Given the description of an element on the screen output the (x, y) to click on. 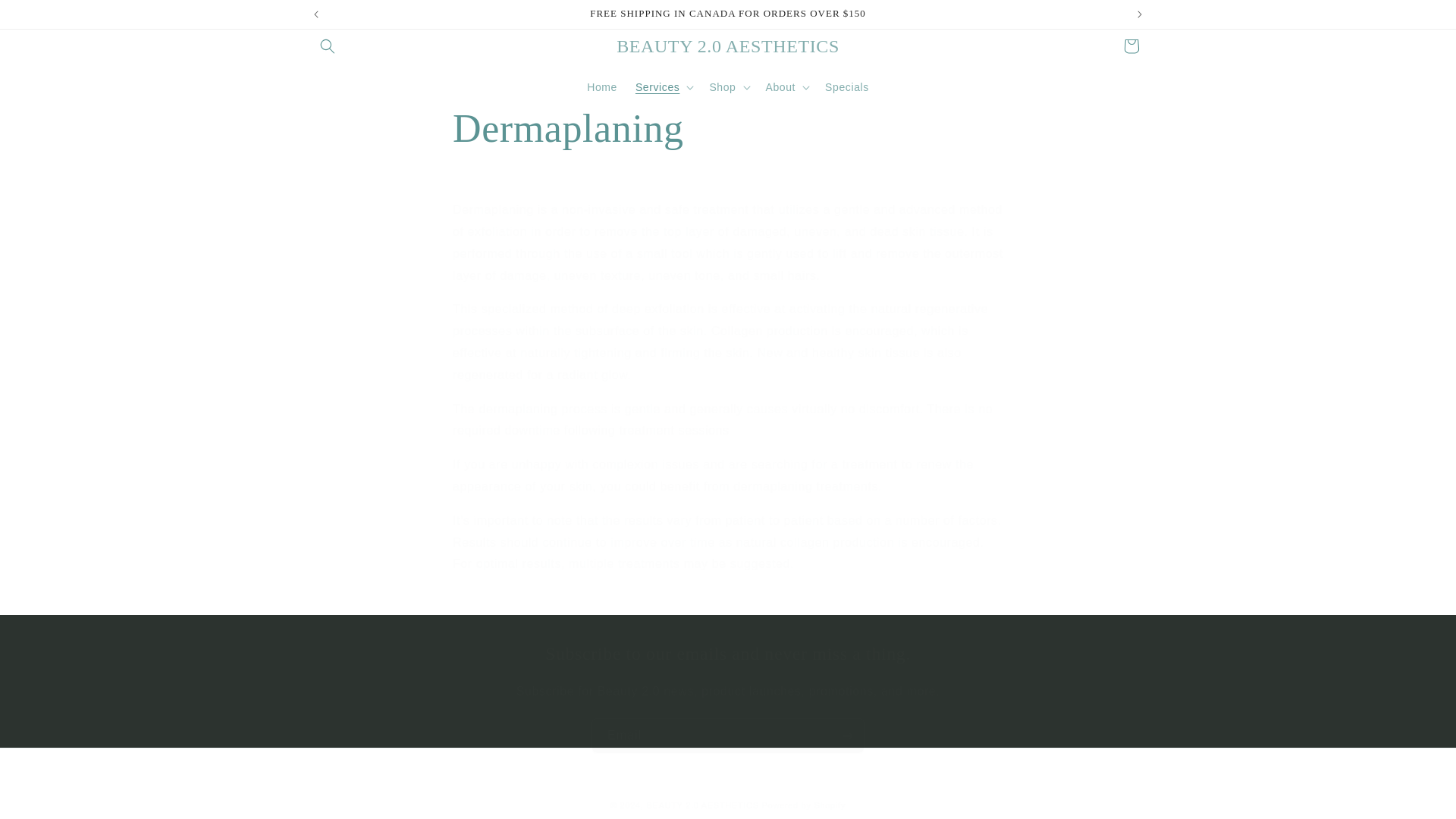
BEAUTY 2.0 AESTHETICS (728, 46)
Dermaplaning (727, 128)
Subscribe to our emails and never miss a thing. (727, 653)
Email (727, 735)
Skip to content (45, 17)
